Given the description of an element on the screen output the (x, y) to click on. 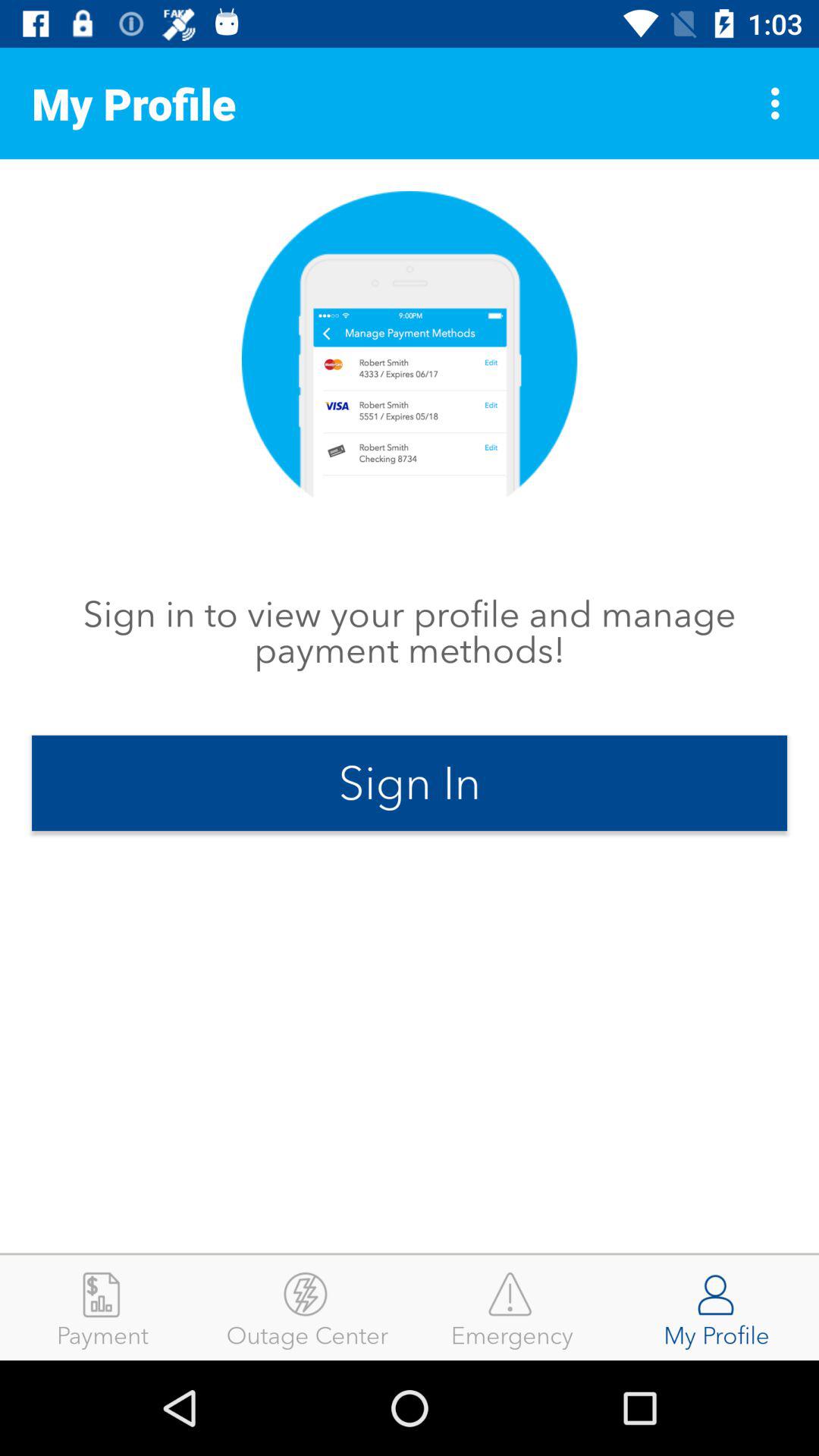
launch the icon next to the outage center icon (511, 1307)
